Given the description of an element on the screen output the (x, y) to click on. 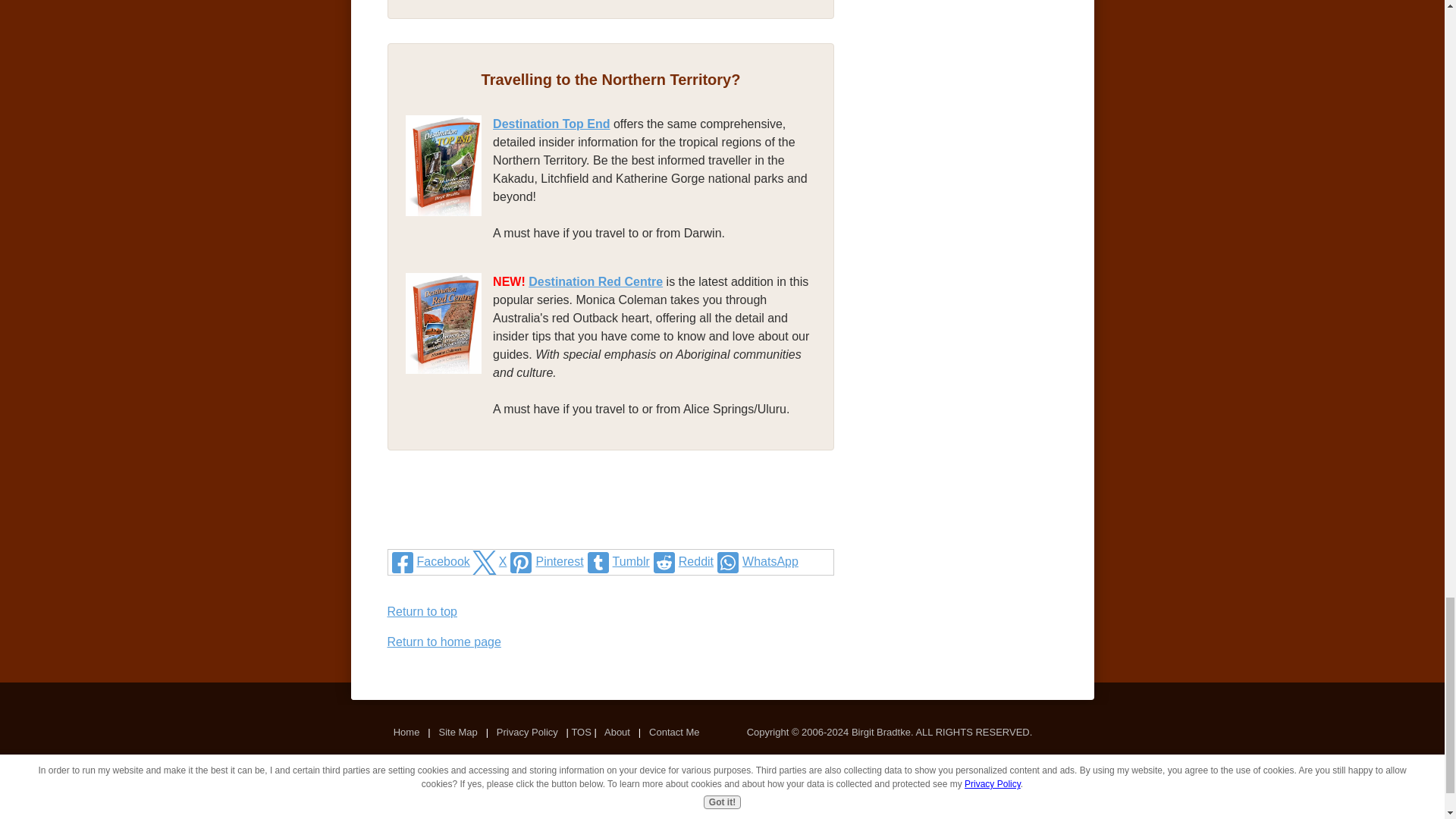
Advertisement (611, 518)
Go to NT Travel Guide: Destination Red Centre (449, 392)
